Given the description of an element on the screen output the (x, y) to click on. 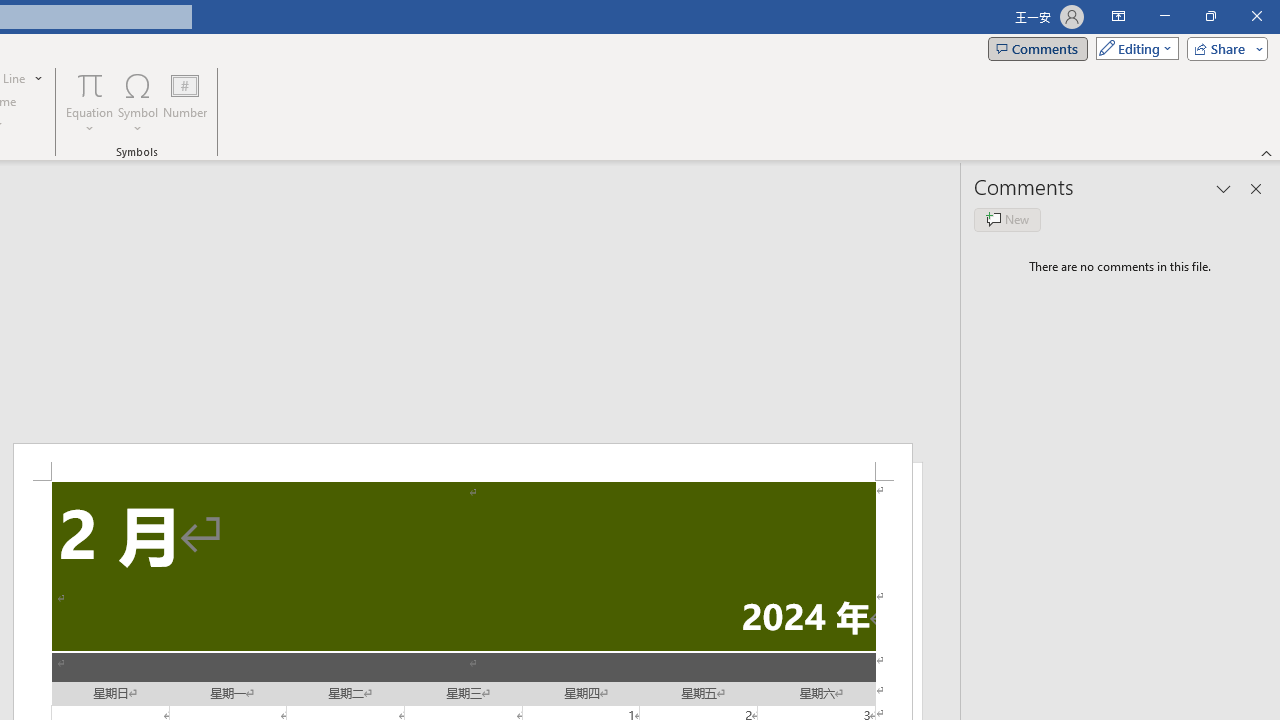
Header -Section 2- (462, 461)
Equation (90, 102)
Number... (185, 102)
Mode (1133, 47)
New comment (1007, 219)
Equation (90, 84)
